Given the description of an element on the screen output the (x, y) to click on. 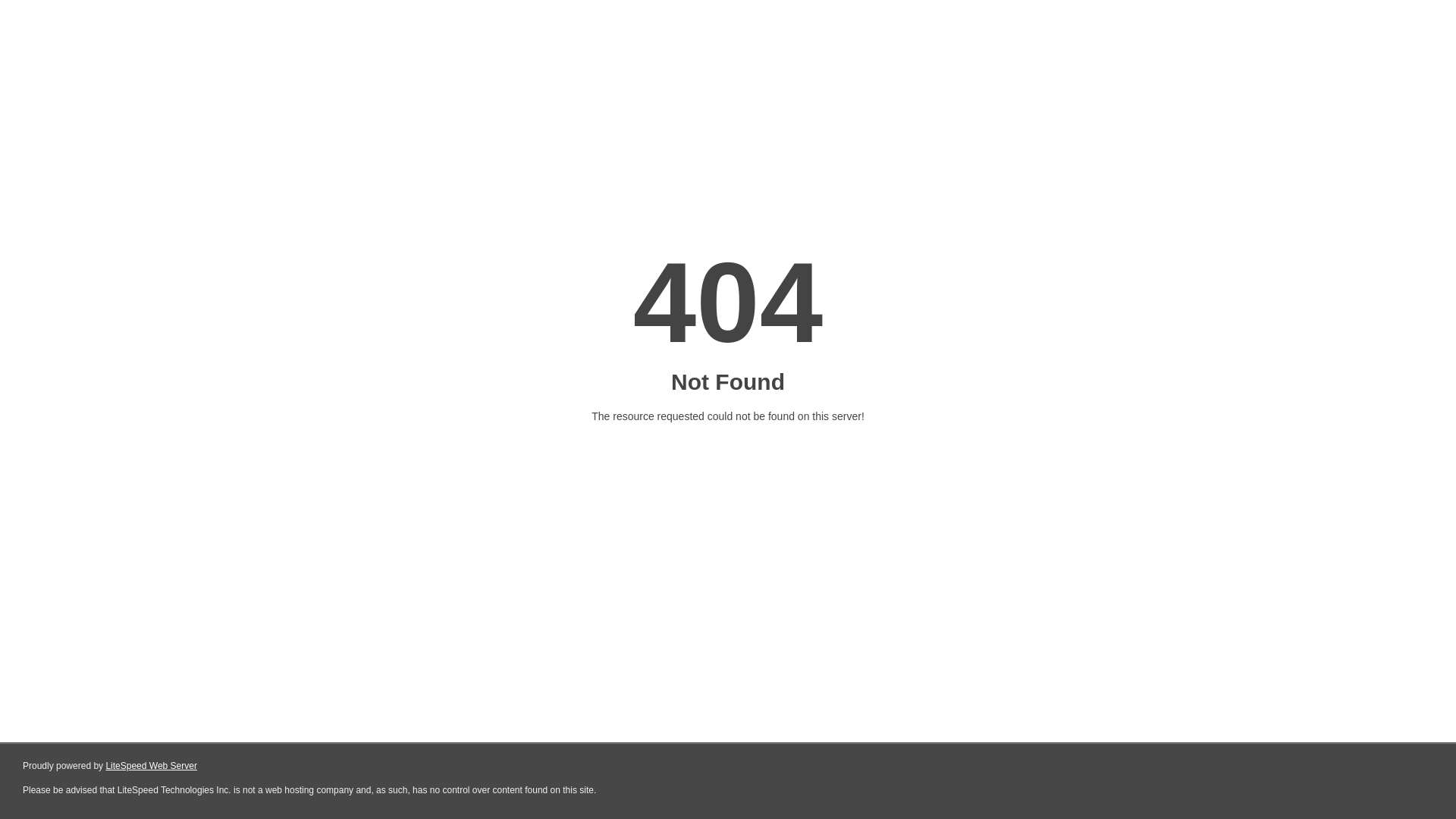
LiteSpeed Web Server Element type: text (151, 765)
